Given the description of an element on the screen output the (x, y) to click on. 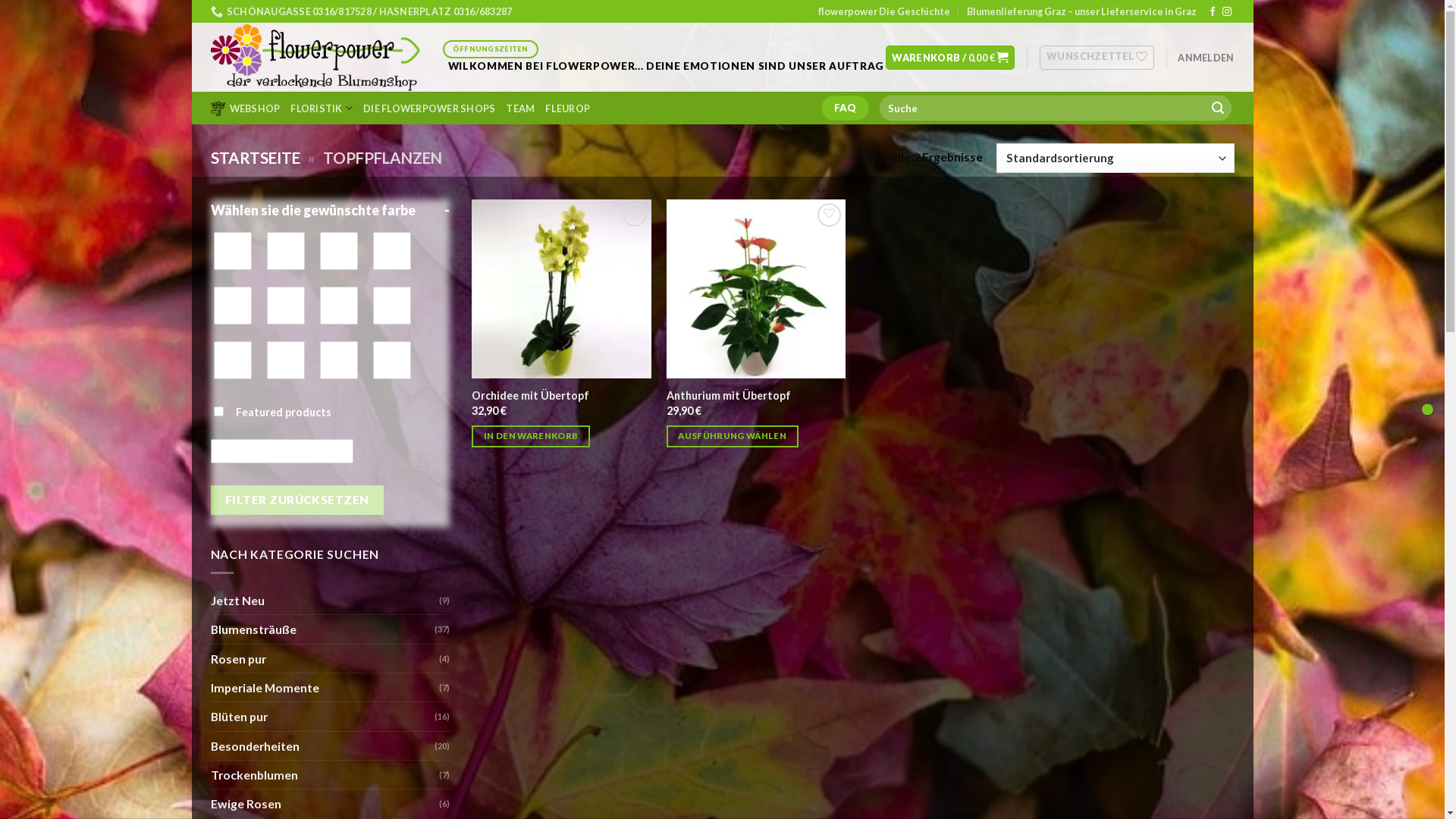
IN DEN WARENKORB Element type: text (530, 436)
Auf Instagram folgen Element type: hover (1226, 11)
STARTSEITE Element type: text (255, 157)
flowerpower Die Geschichte Element type: text (884, 11)
Zum Inhalt springen Element type: text (191, 0)
Imperiale Momente Element type: text (324, 687)
Ewige Rosen Element type: text (324, 803)
TEAM Element type: text (519, 108)
Suche Element type: text (1217, 107)
FLEUROP Element type: text (567, 108)
FAQ Element type: text (845, 107)
Rosen pur Element type: text (324, 658)
ANMELDEN Element type: text (1205, 57)
- Element type: text (446, 210)
FLORISTIK Element type: text (321, 107)
Auf Facebook folgen Element type: hover (1212, 11)
Trockenblumen Element type: text (324, 774)
WEBSHOP Element type: text (245, 108)
WUNSCHZETTEL Element type: text (1096, 57)
DIE FLOWERPOWER SHOPS Element type: text (429, 108)
Besonderheiten Element type: text (322, 745)
Jetzt Neu Element type: text (324, 600)
